Given the description of an element on the screen output the (x, y) to click on. 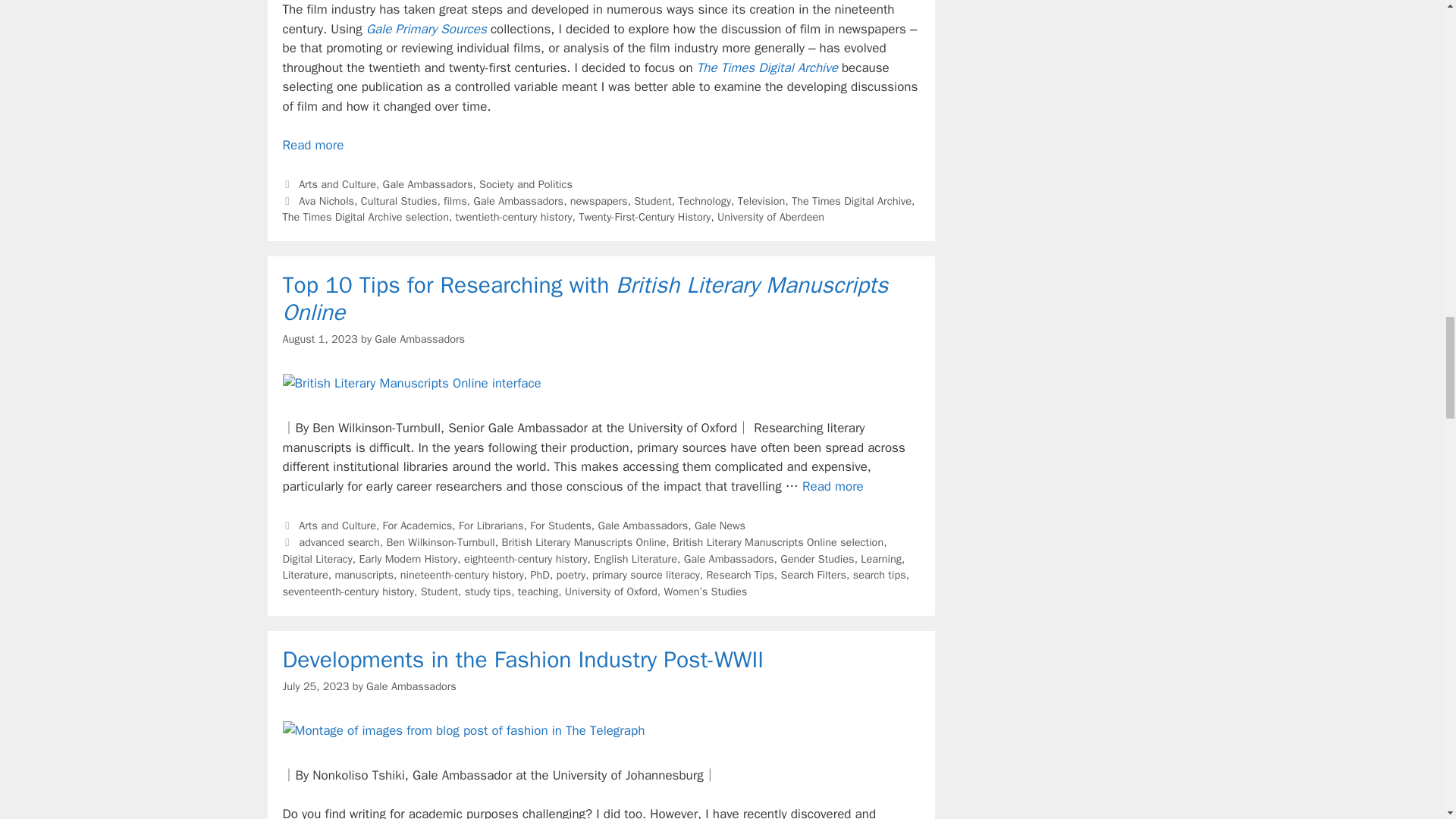
View all posts by Gale Ambassadors (411, 685)
View all posts by Gale Ambassadors (419, 338)
